Given the description of an element on the screen output the (x, y) to click on. 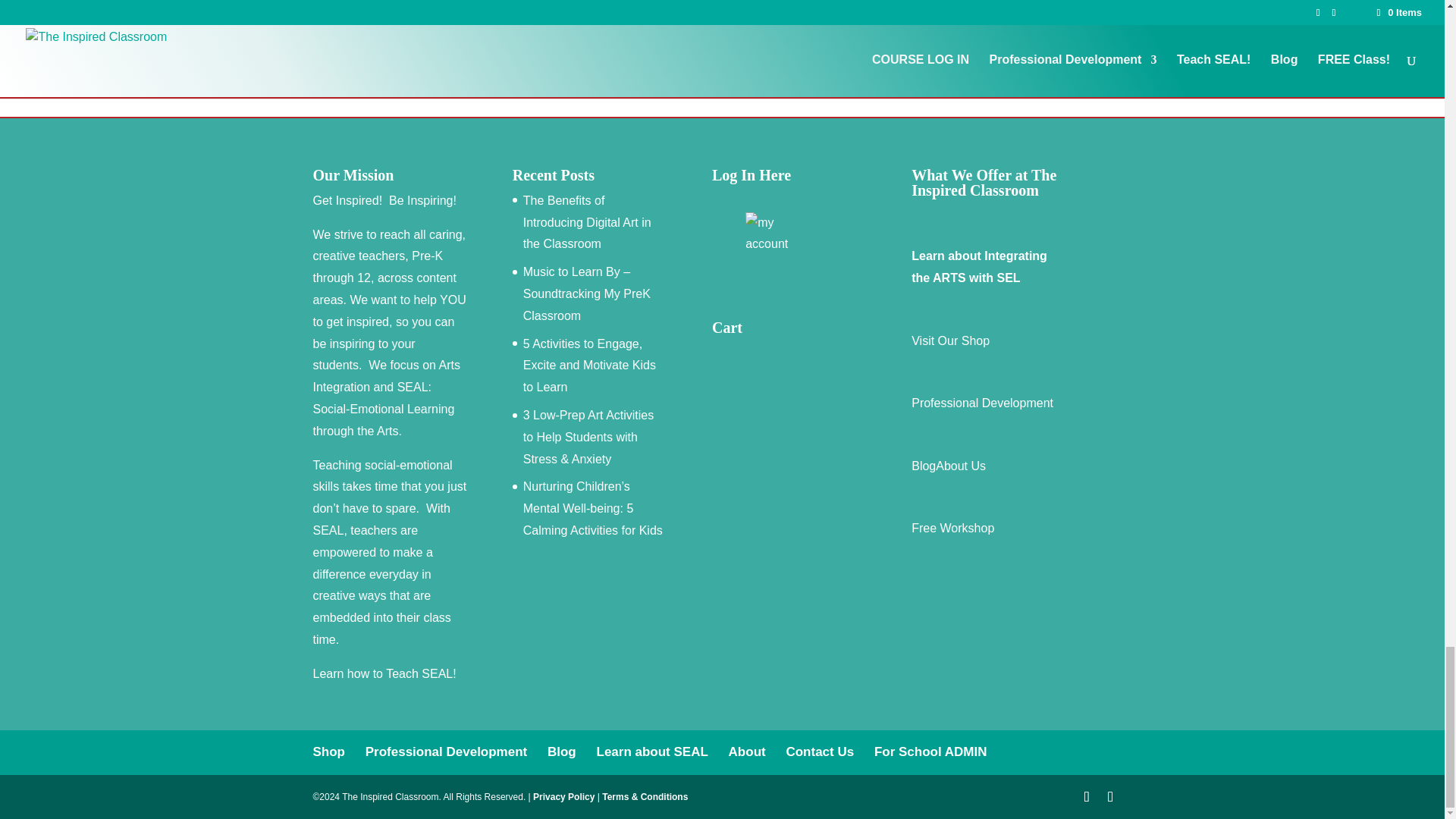
5 Activities to Engage, Excite and Motivate Kids to Learn (589, 365)
Teach SEAL! (421, 673)
The Benefits of Introducing Digital Art in the Classroom (586, 222)
